Given the description of an element on the screen output the (x, y) to click on. 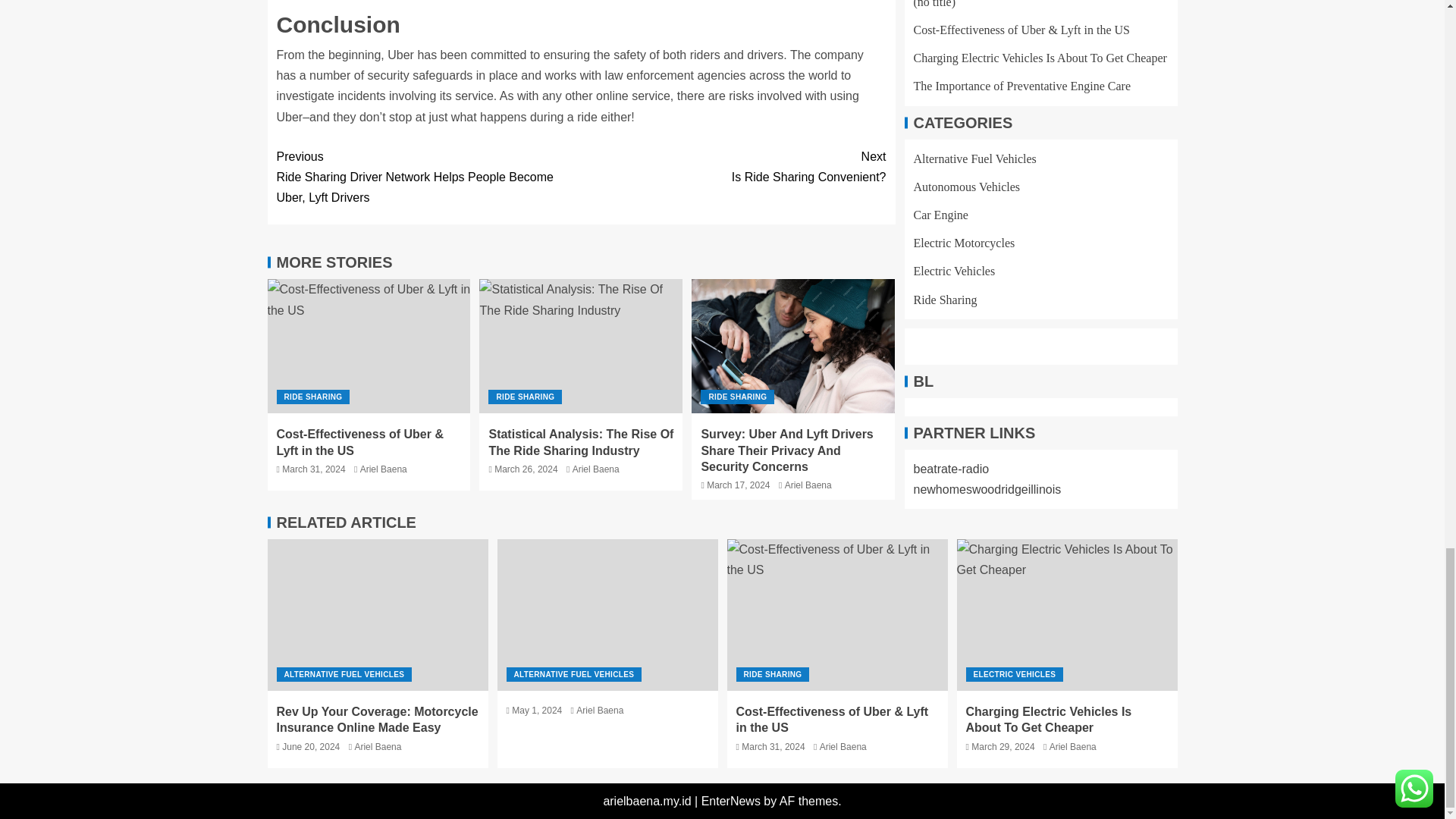
RIDE SHARING (312, 396)
Ariel Baena (383, 469)
Statistical Analysis: The Rise Of The Ride Sharing Industry (732, 166)
